Given the description of an element on the screen output the (x, y) to click on. 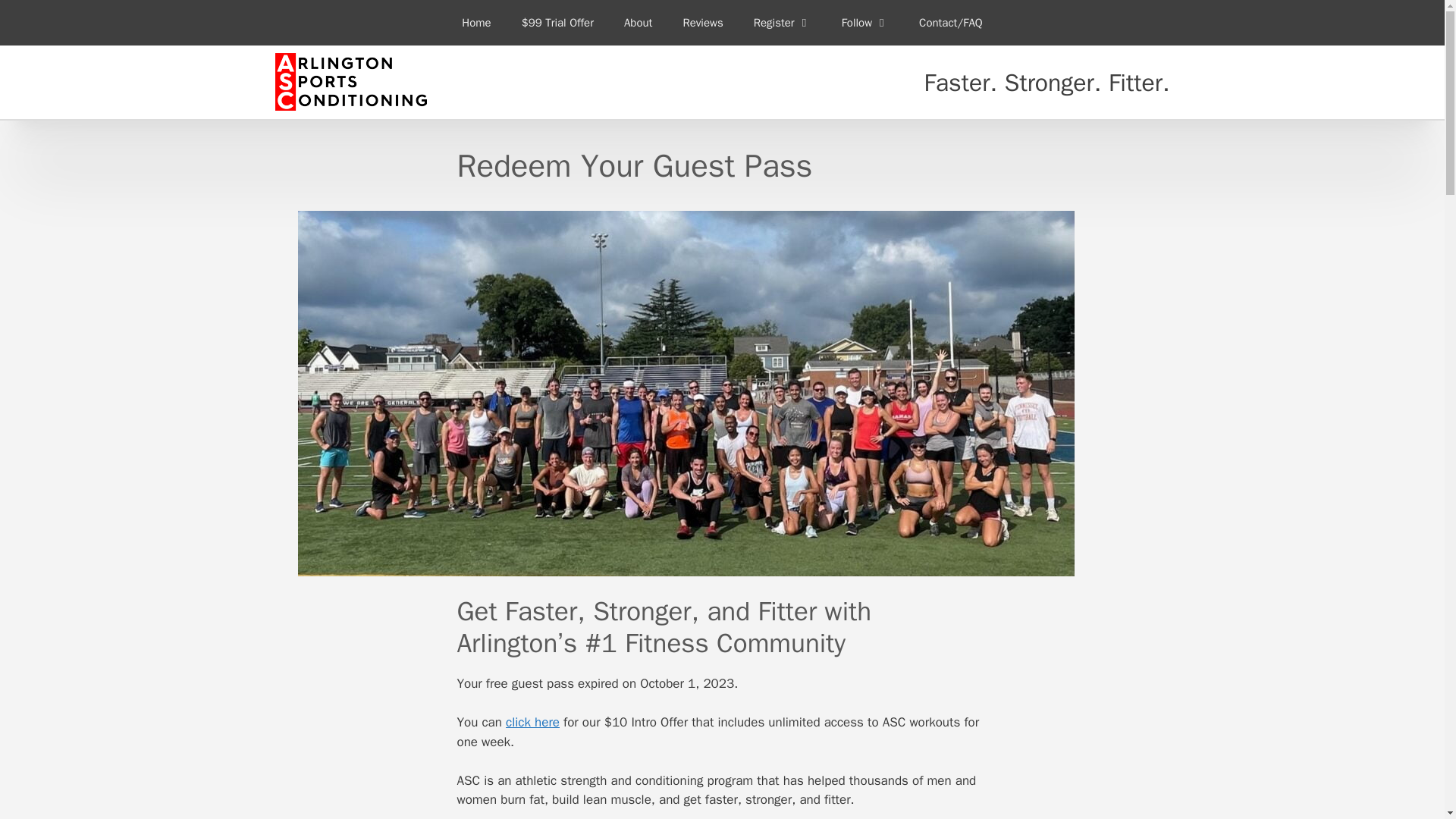
Register (782, 22)
Follow (865, 22)
About (637, 22)
Reviews (702, 22)
Home (475, 22)
click here (532, 722)
